Given the description of an element on the screen output the (x, y) to click on. 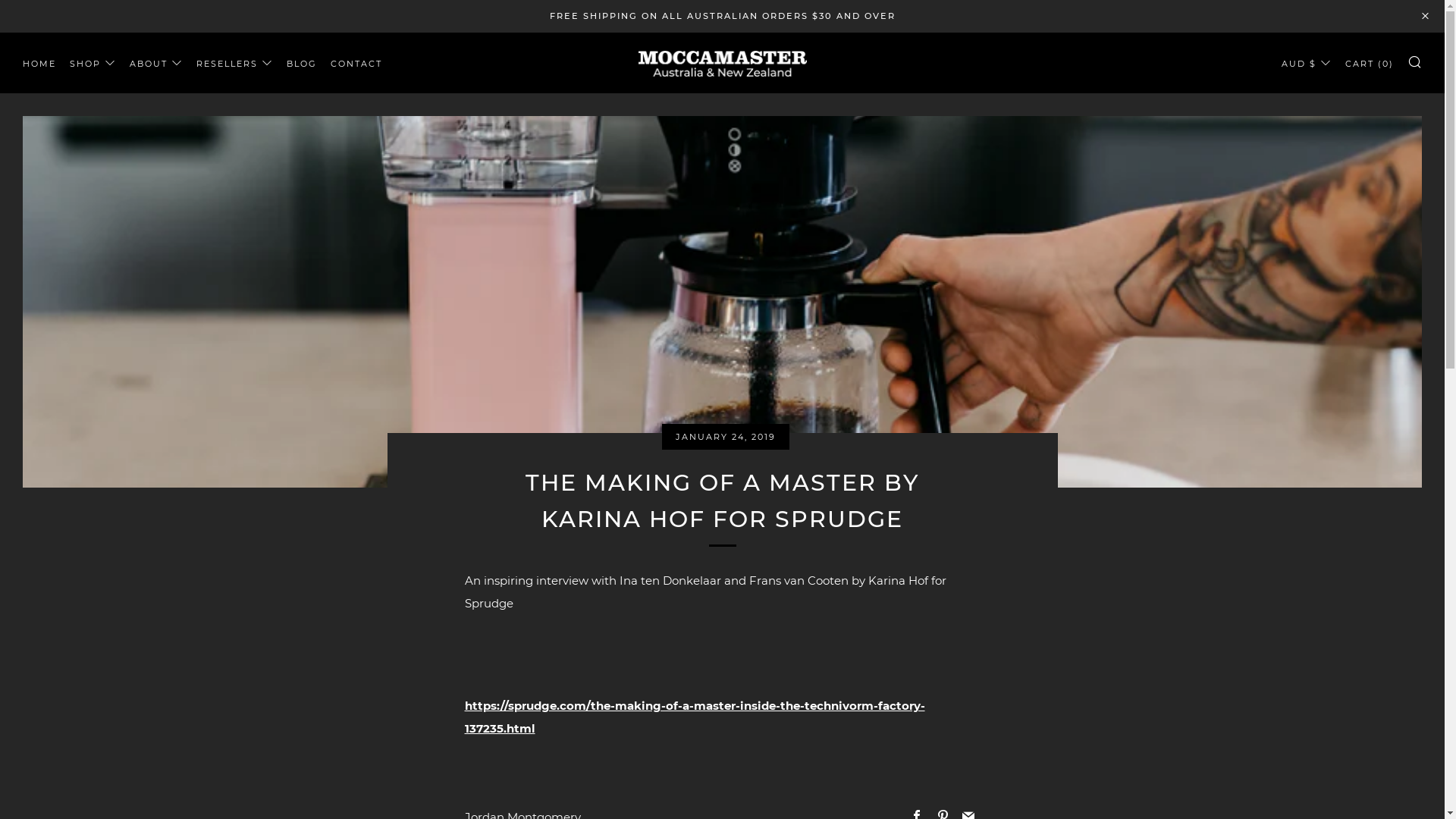
BLOG Element type: text (301, 63)
SHOP Element type: text (92, 63)
SEARCH Element type: text (1414, 61)
AUD $ Element type: text (1306, 63)
HOME Element type: text (39, 63)
RESELLERS Element type: text (234, 63)
CART (0) Element type: text (1369, 63)
ABOUT Element type: text (155, 63)
CONTACT Element type: text (356, 63)
AUSTRALIA & NEW ZEALAND Element type: text (722, 62)
